Given the description of an element on the screen output the (x, y) to click on. 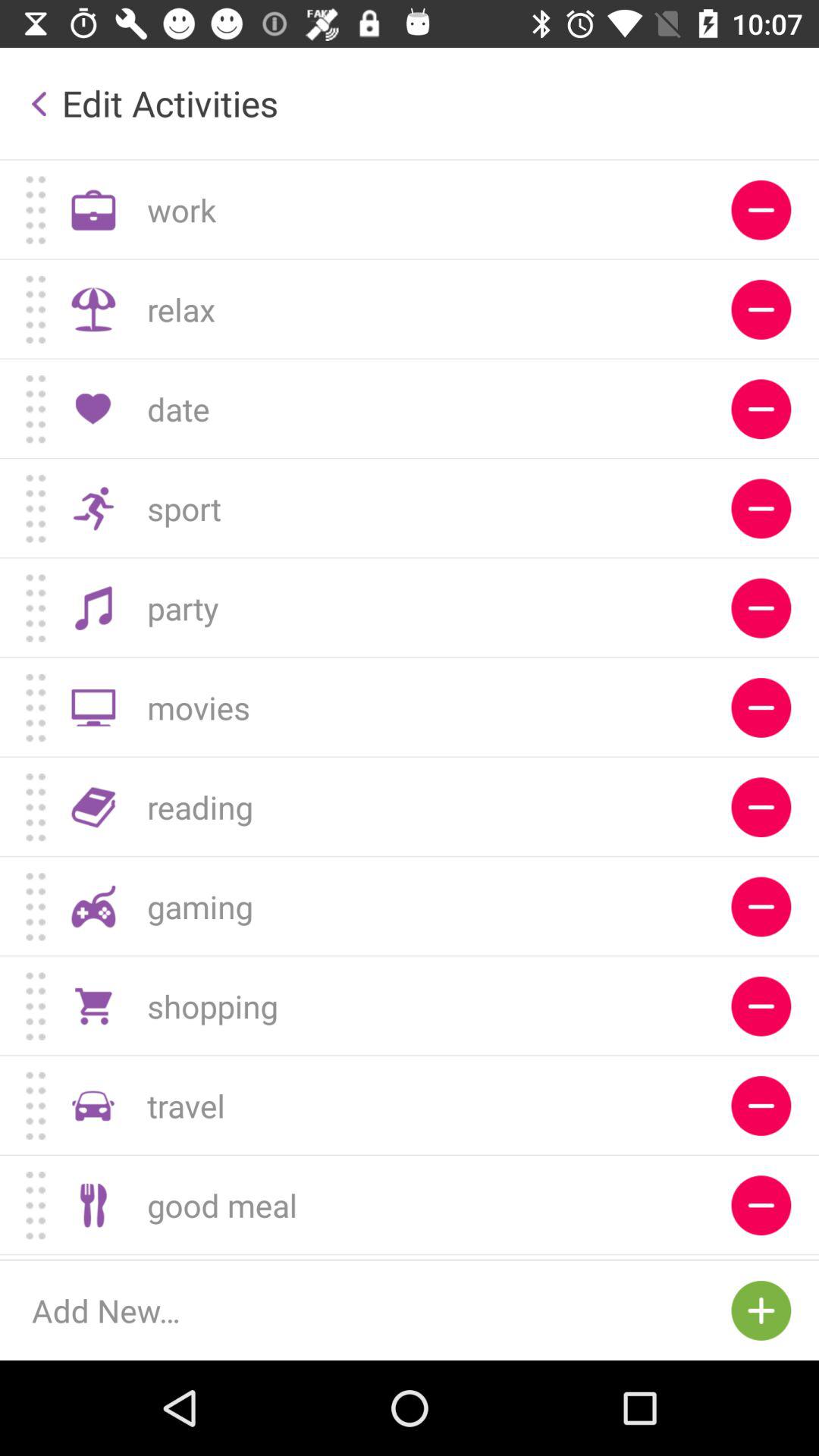
press to remove (761, 1205)
